Given the description of an element on the screen output the (x, y) to click on. 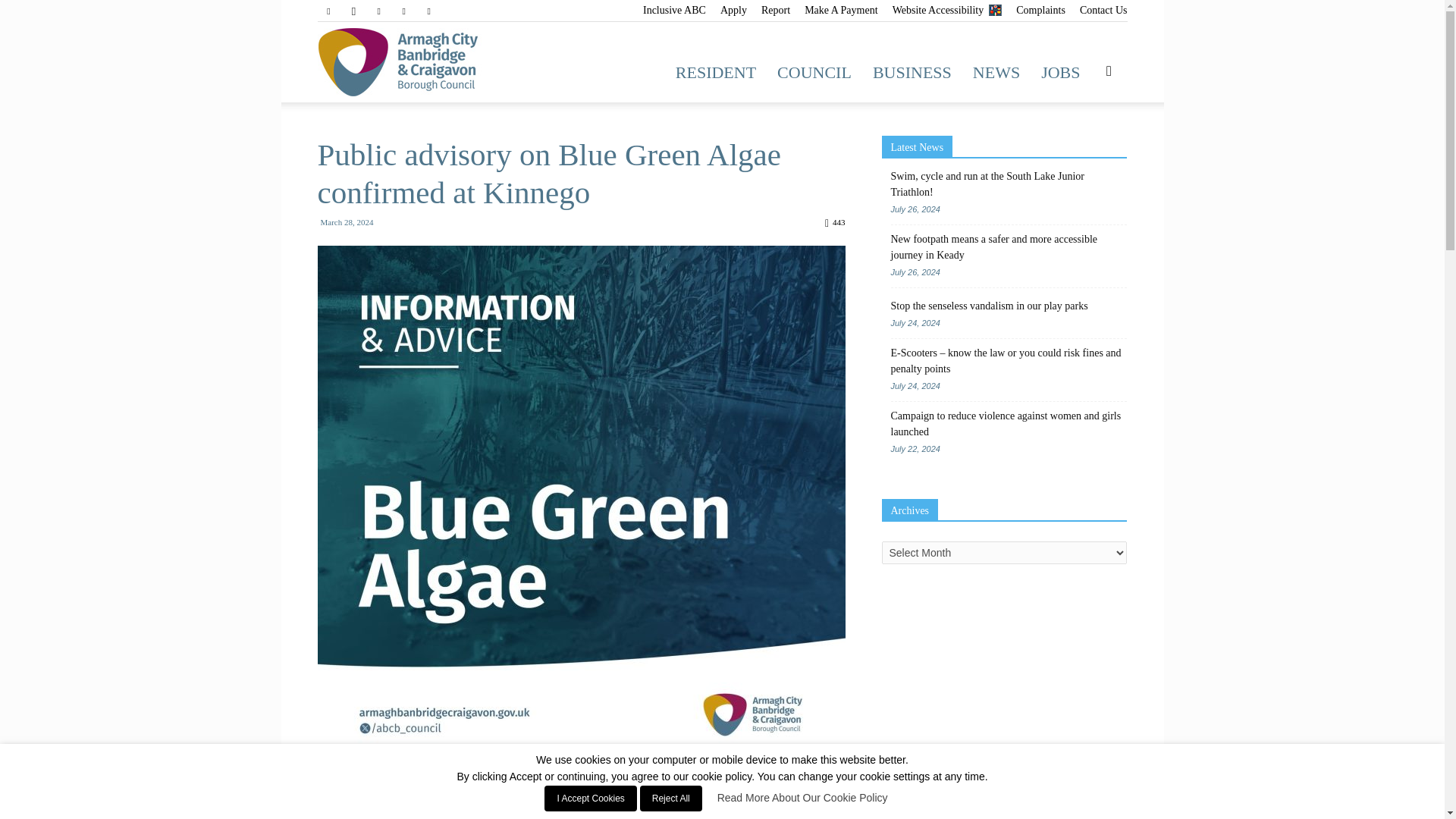
COUNCIL (814, 72)
NEWS (996, 72)
RESIDENT (716, 72)
Inclusive ABC (674, 9)
Instagram (353, 10)
Search (1085, 144)
Complaints (1040, 9)
Facebook (328, 10)
JOBS (1060, 72)
Report (775, 9)
BUSINESS (911, 72)
Twitter (403, 10)
Apply (733, 9)
Make A Payment (841, 9)
Armagh City, Banbridge and Craigavon Borough Council (419, 61)
